Given the description of an element on the screen output the (x, y) to click on. 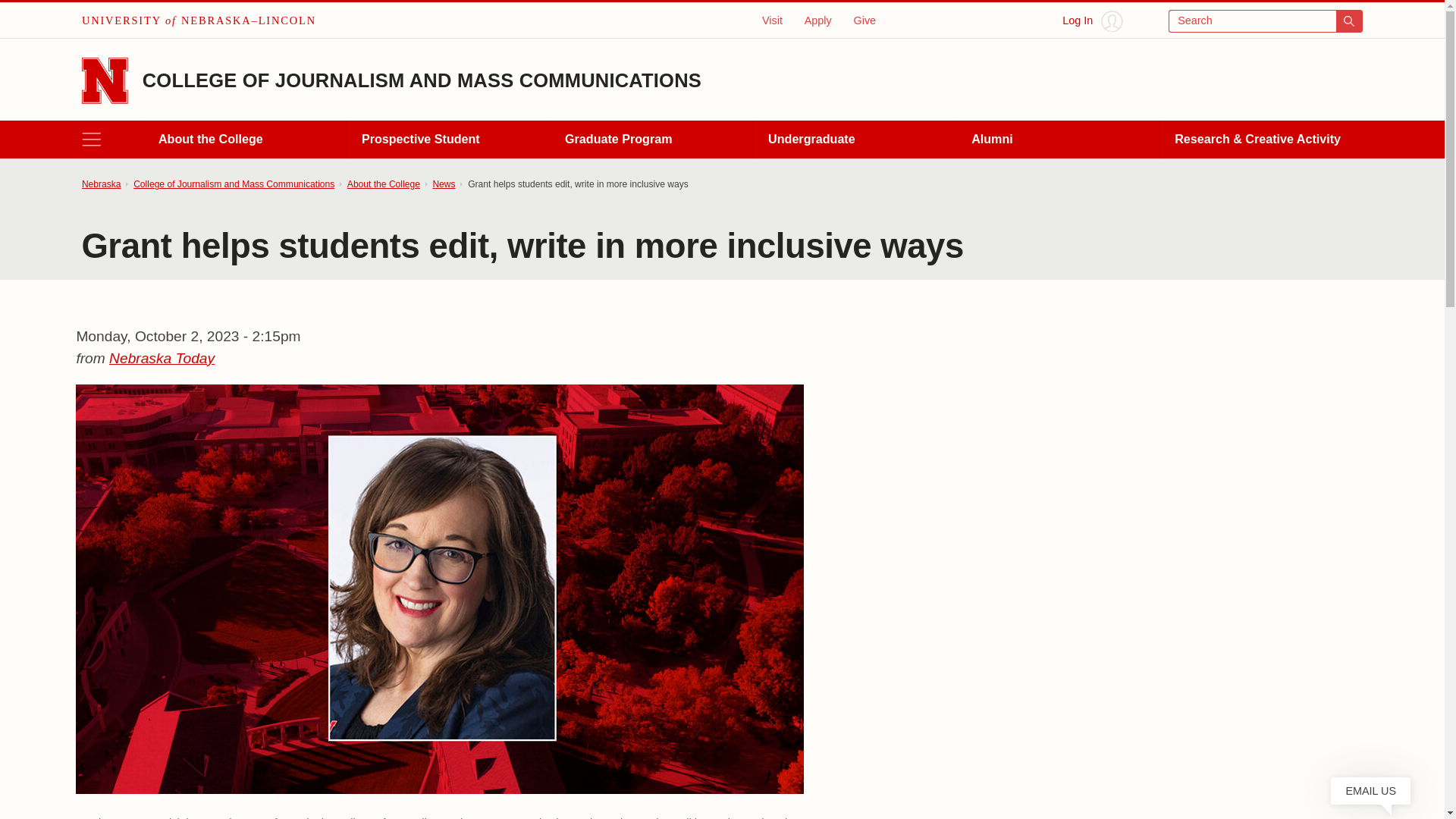
Visit (772, 20)
Give (864, 20)
Skip to main content (19, 16)
Apply (818, 20)
Prospective Student (448, 139)
COLLEGE OF JOURNALISM AND MASS COMMUNICATIONS (421, 79)
Log In (1092, 21)
About the College (244, 139)
Search (1265, 21)
